Given the description of an element on the screen output the (x, y) to click on. 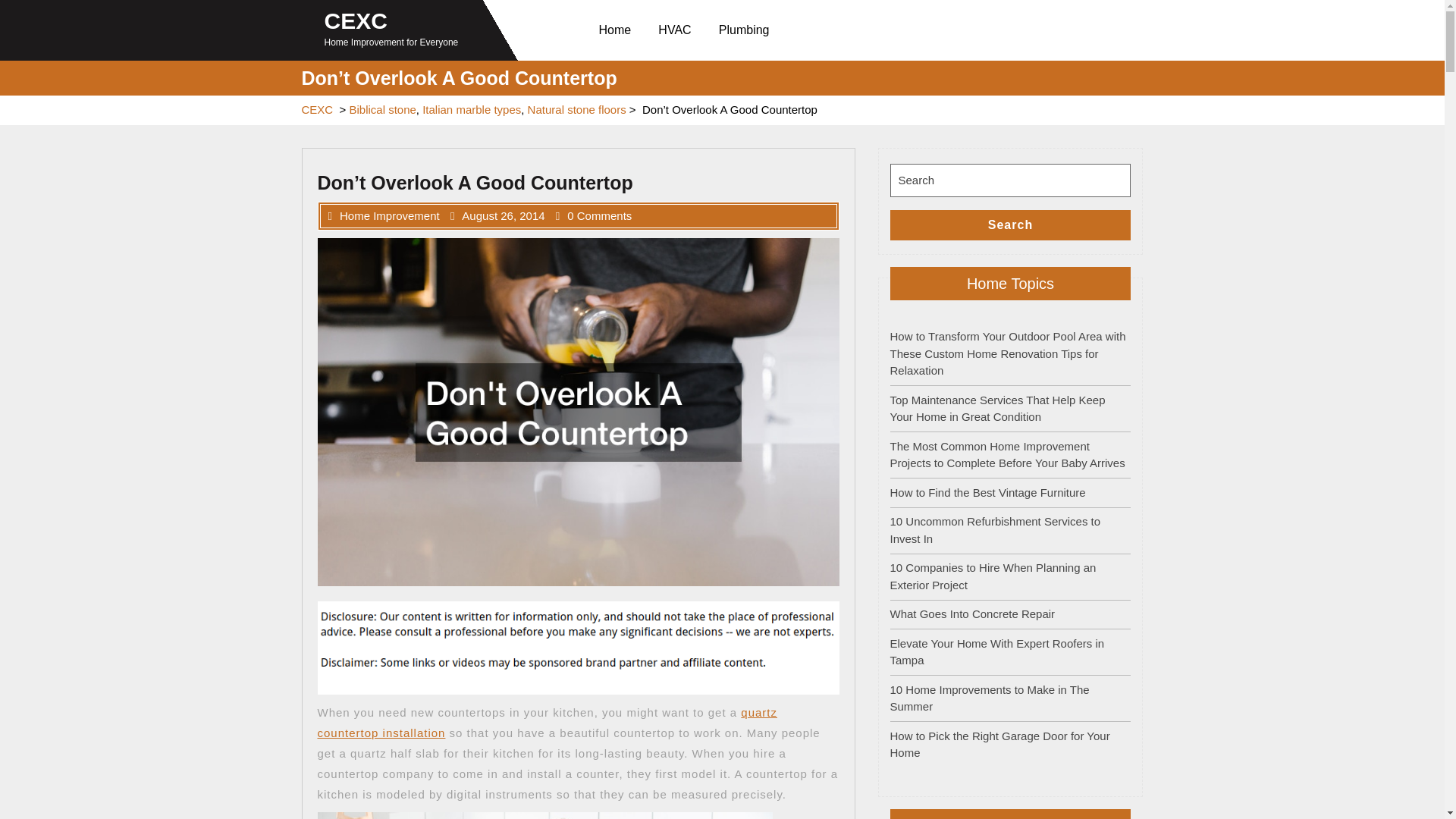
10 Uncommon Refurbishment Services to Invest In (994, 530)
CEXC (317, 109)
CEXC (355, 20)
10 Home Improvements to Make in The Summer (989, 697)
How to Pick the Right Garage Door for Your Home (999, 744)
Biblical stone (381, 109)
Plumbing (747, 29)
10 Companies to Hire When Planning an Exterior Project (992, 576)
quartz countertop installation (547, 722)
Italian marble types (471, 109)
HVAC (677, 29)
Search (1010, 224)
